Given the description of an element on the screen output the (x, y) to click on. 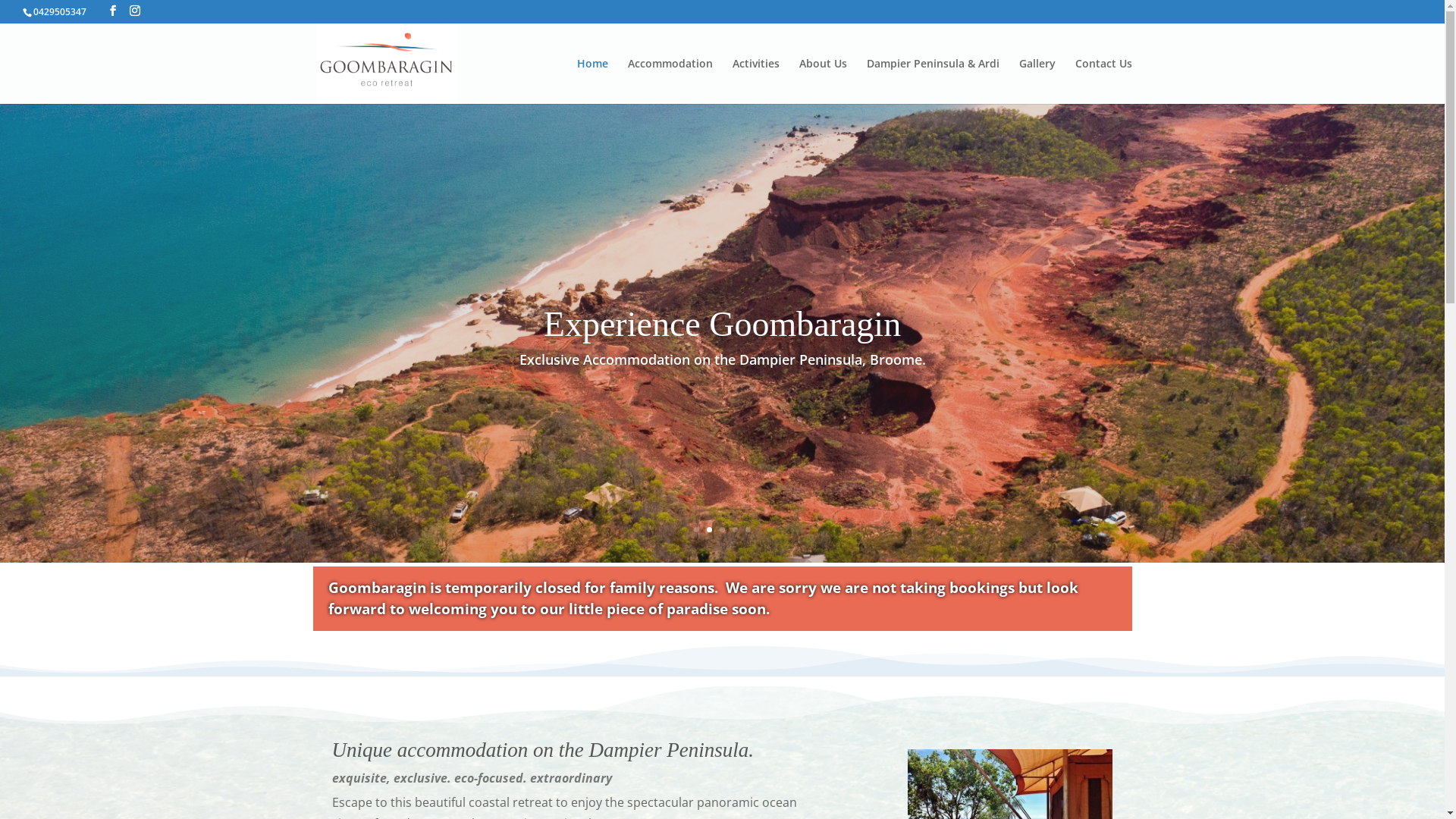
2 Element type: text (709, 529)
Contact Us Element type: text (1103, 80)
Home Element type: text (591, 80)
5 Element type: text (747, 529)
Activities Element type: text (755, 80)
Accommodation Element type: text (669, 80)
3 Element type: text (721, 529)
Dampier Peninsula & Ardi Element type: text (932, 80)
Gallery Element type: text (1037, 80)
1 Element type: text (696, 529)
4 Element type: text (734, 529)
About Us Element type: text (823, 80)
